Given the description of an element on the screen output the (x, y) to click on. 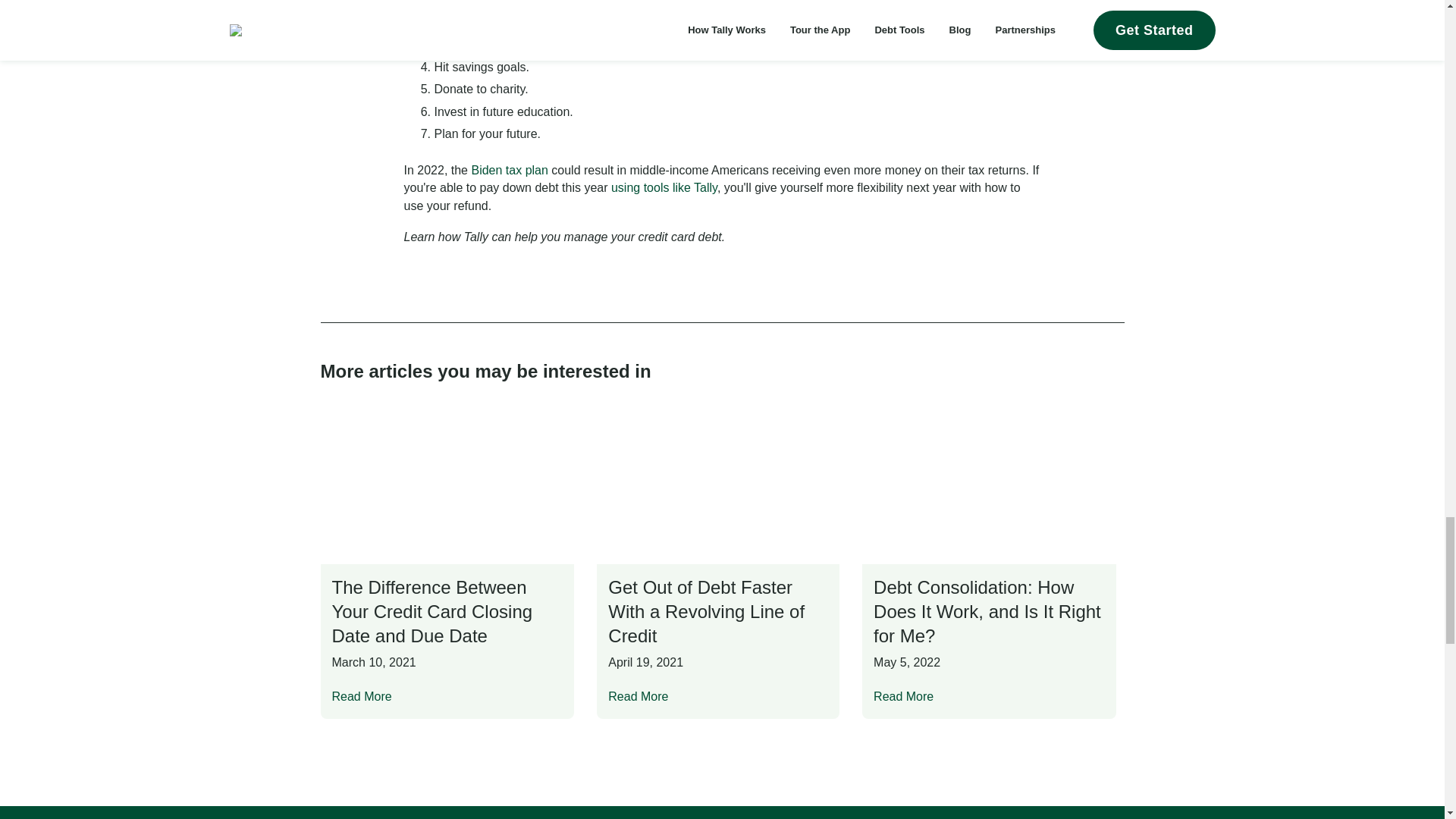
using tools like Tally (664, 187)
Biden tax plan (508, 169)
